Given the description of an element on the screen output the (x, y) to click on. 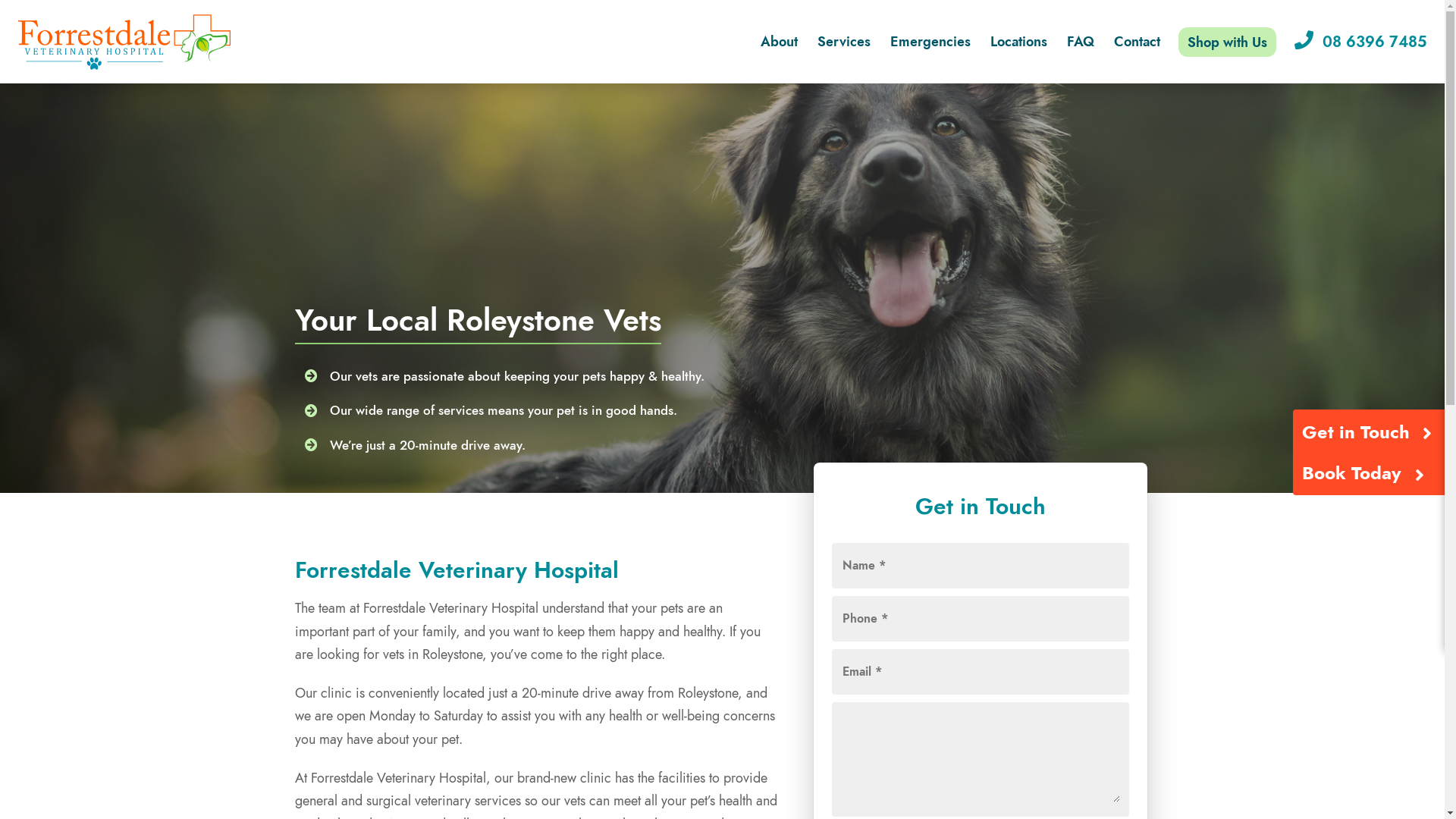
About Element type: text (778, 41)
Contact Element type: text (1136, 41)
Shop with Us Element type: text (1227, 41)
Services Element type: text (843, 41)
Emergencies Element type: text (930, 41)
Book Today Element type: text (1351, 477)
Locations Element type: text (1018, 41)
Forrestdale Vet Element type: text (124, 41)
FAQ Element type: text (1080, 41)
08 6396 7485 Element type: text (1364, 41)
